Given the description of an element on the screen output the (x, y) to click on. 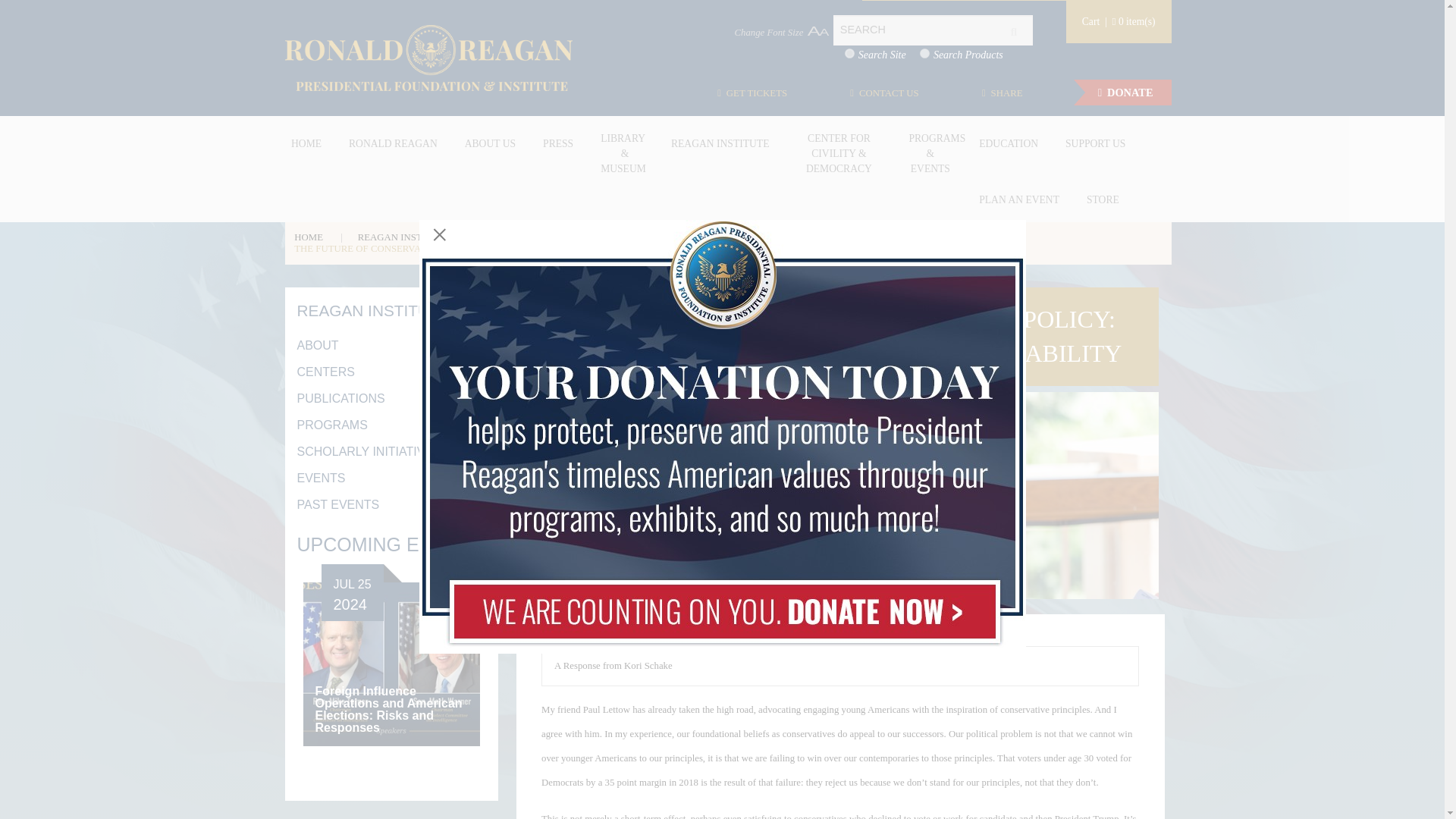
Search Products (925, 53)
Search Site (849, 53)
Search Products (925, 53)
Search Site (849, 53)
